Given the description of an element on the screen output the (x, y) to click on. 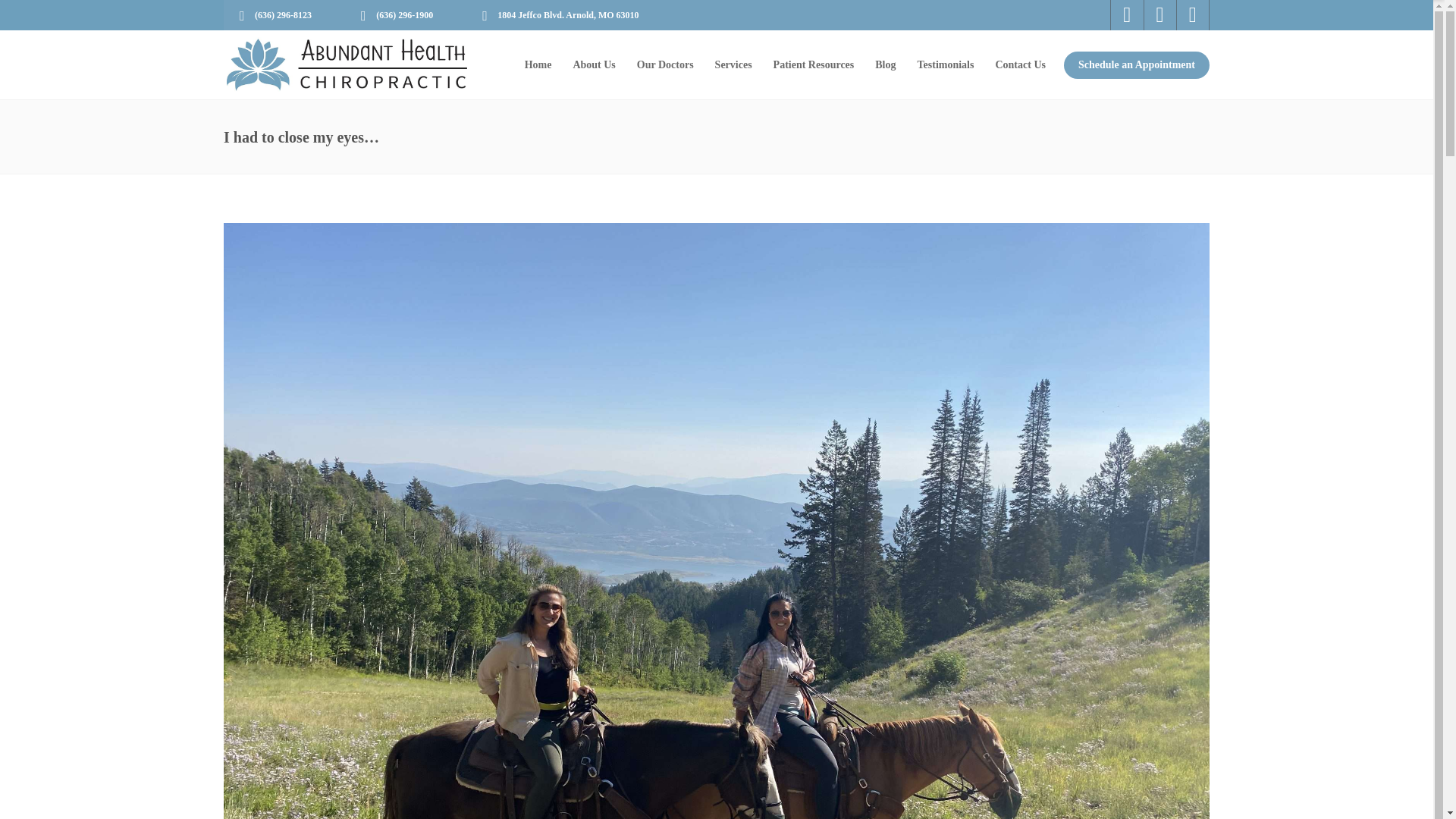
1804 Jeffco Blvd. Arnold, MO 63010 (562, 15)
Contact Us (1020, 64)
Our Doctors (665, 64)
Schedule an Appointment (1133, 64)
Patient Resources (813, 64)
About Us (594, 64)
Testimonials (946, 64)
